Given the description of an element on the screen output the (x, y) to click on. 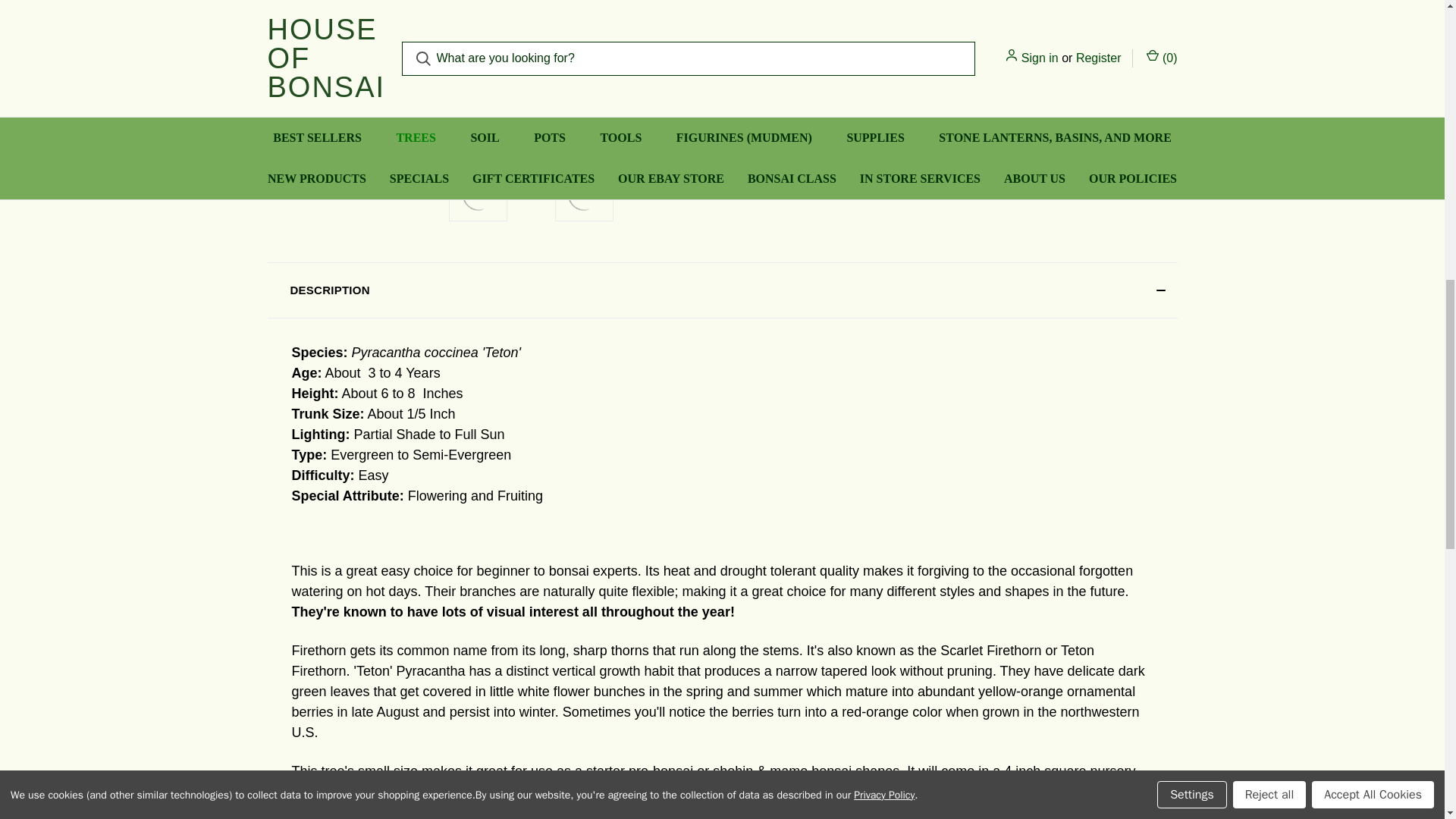
Add to Cart (890, 27)
